Given the description of an element on the screen output the (x, y) to click on. 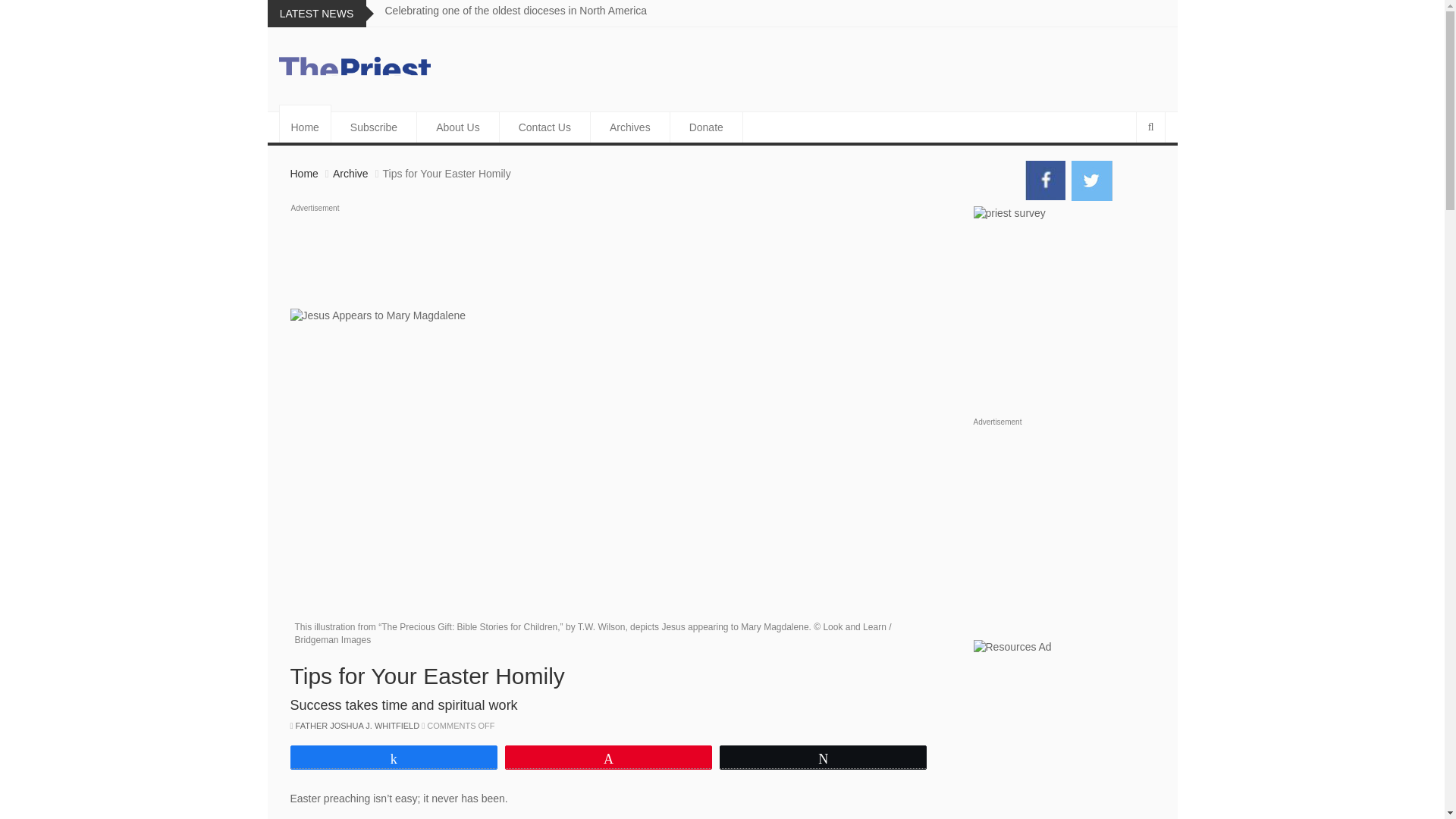
Archive (350, 173)
Subscribe (373, 127)
Archives (630, 127)
Celebrating one of the oldest dioceses in North America (516, 10)
Contact Us (545, 127)
About Us (457, 127)
Celebrating one of the oldest dioceses in North America (516, 10)
Contact Us (545, 127)
Subscribe (373, 127)
Home (305, 127)
Donate (705, 127)
About Us (457, 127)
Donate (705, 127)
FATHER JOSHUA J. WHITFIELD (357, 725)
Archives (630, 127)
